Given the description of an element on the screen output the (x, y) to click on. 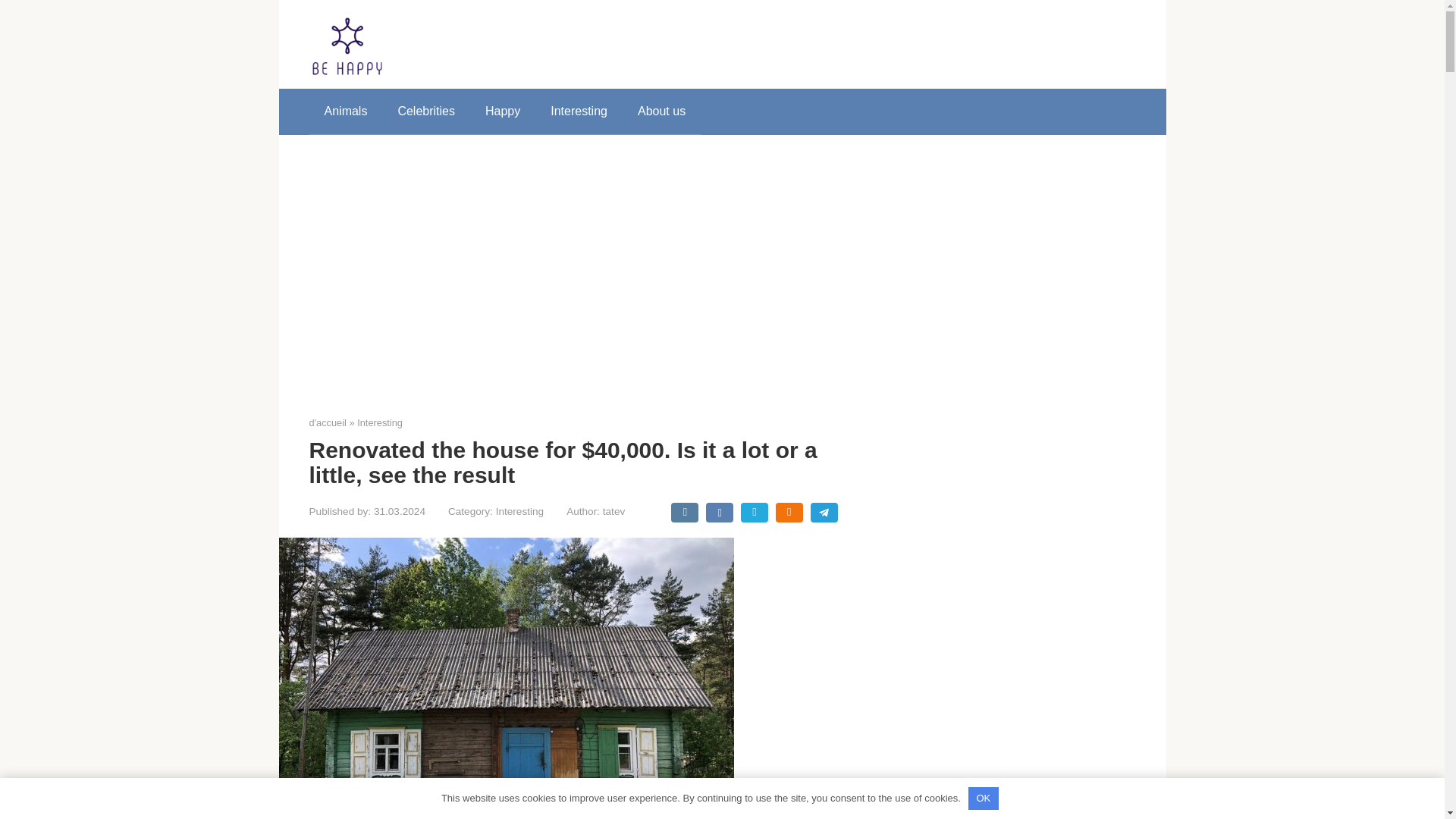
Happy (502, 111)
About us (661, 111)
Interesting (579, 111)
Interesting (519, 511)
Interesting (379, 422)
Animals (345, 111)
d'accueil (327, 422)
Celebrities (425, 111)
